Given the description of an element on the screen output the (x, y) to click on. 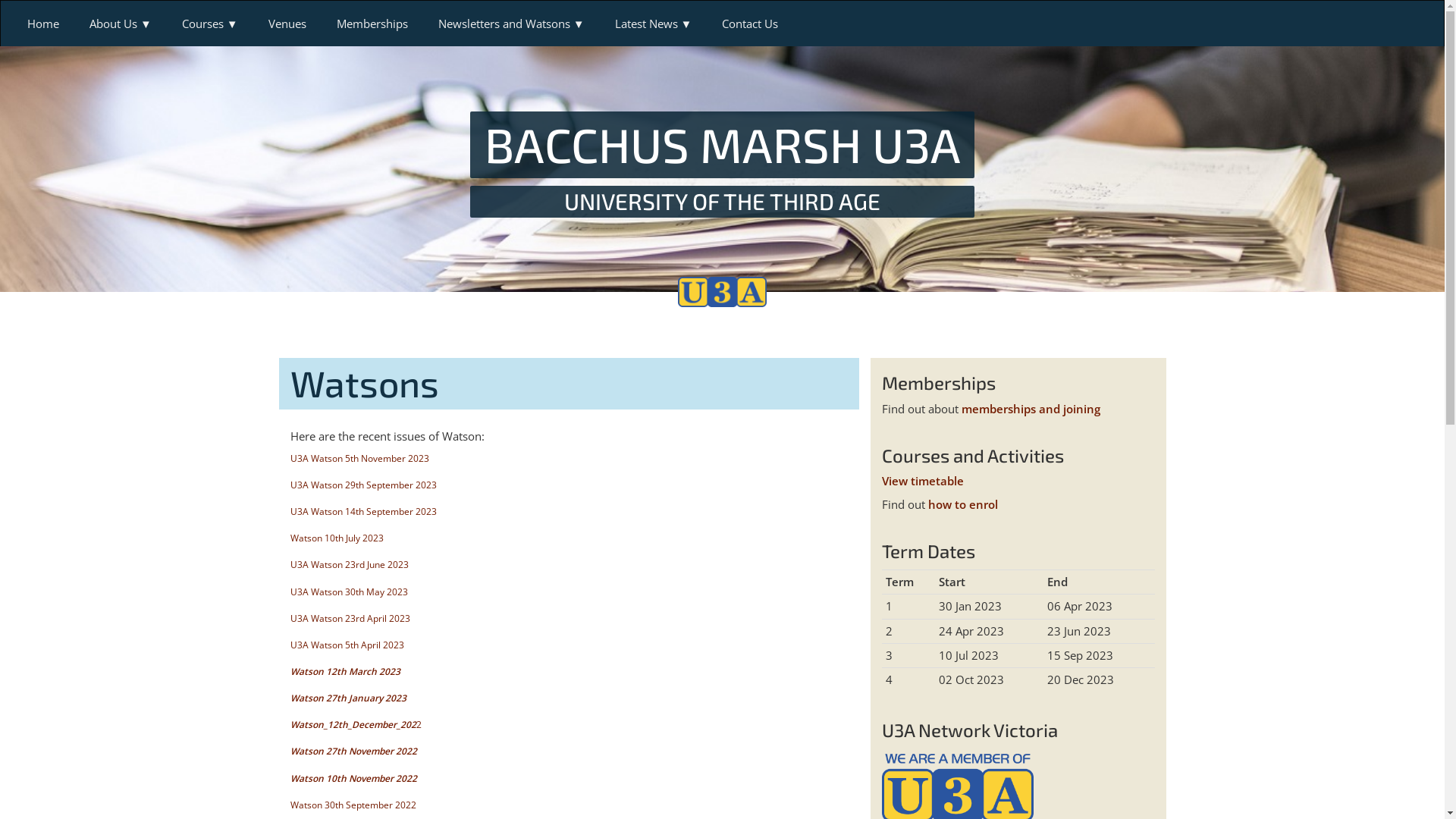
Watson 27th January 2023 Element type: text (347, 697)
Venues Element type: text (287, 23)
Courses Element type: text (209, 23)
memberships and joining Element type: text (1030, 408)
Watson 10th November 2022 Element type: text (352, 777)
U3A Watson 5th November 2023 Element type: text (358, 457)
U3A Watson 23rd June 2023 Element type: text (348, 564)
U3A Watson 30th May 2023 Element type: text (348, 591)
View timetable Element type: text (922, 480)
Watson_12th_December_2022 Element type: text (354, 724)
U3A Watson 14th September 2023 Element type: text (362, 511)
Latest News Element type: text (653, 23)
Contact Us Element type: text (749, 23)
how to enrol Element type: text (962, 503)
Watson 27th November 2022 Element type: text (352, 750)
About Us Element type: text (120, 23)
Watson 30th September 2022 Element type: text (352, 804)
Watson 12th March 2023 Element type: text (344, 671)
U3A Watson 29th September 2023 Element type: text (362, 484)
Newsletters and Watsons Element type: text (511, 23)
Watson 10th July 2023 Element type: text (335, 537)
U3A Watson 5th April 2023 Element type: text (346, 644)
U3A Watson 23rd April 2023 Element type: text (349, 617)
Memberships Element type: text (372, 23)
Home Element type: text (43, 23)
BACCHUS MARSH U3A
UNIVERSITY OF THE THIRD AGE Element type: text (722, 163)
